Given the description of an element on the screen output the (x, y) to click on. 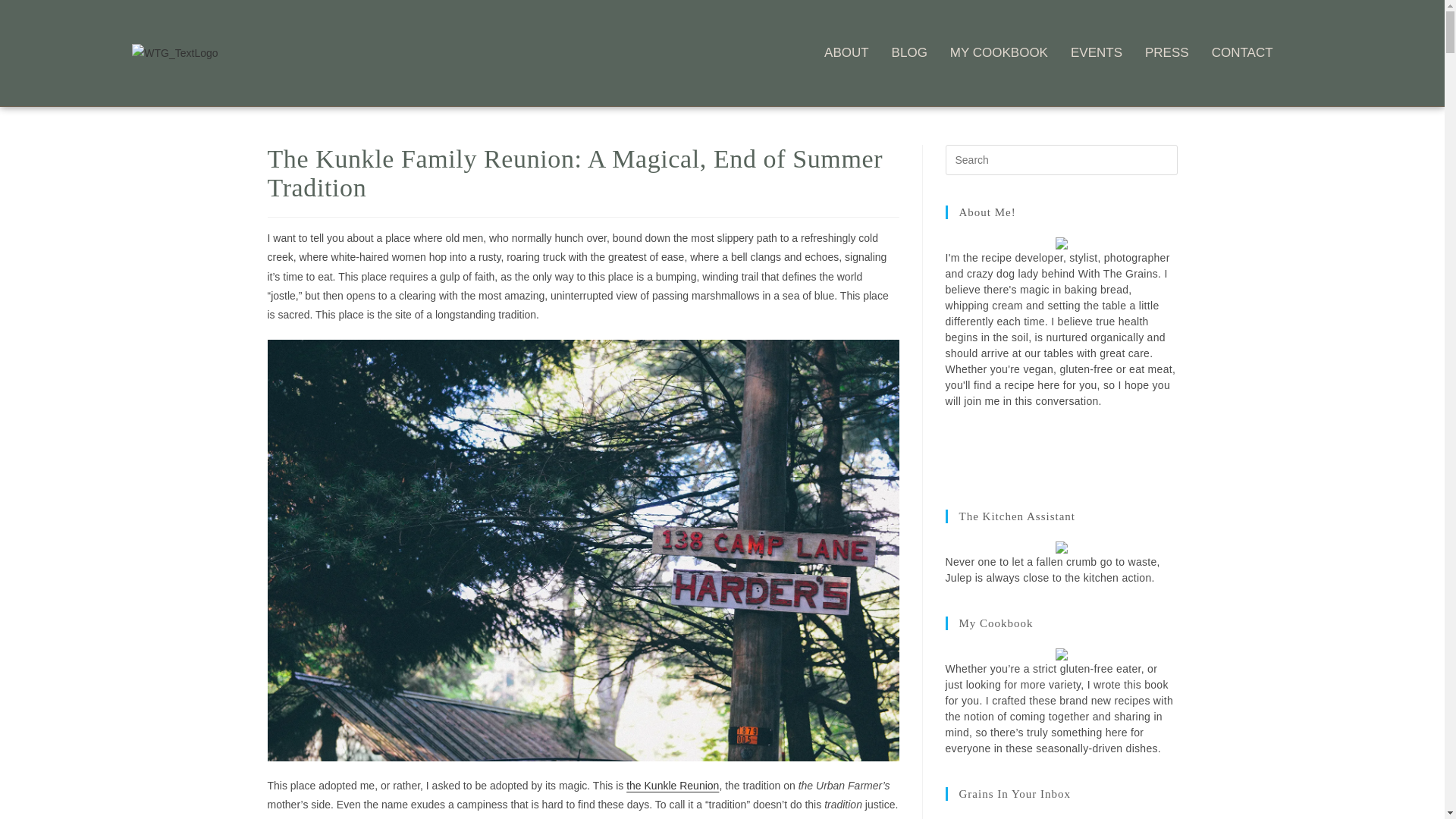
PRESS (1166, 52)
EVENTS (1096, 52)
BLOG (909, 52)
ABOUT (846, 52)
CONTACT (1241, 52)
the Kunkle Reunion (672, 785)
MY COOKBOOK (999, 52)
